Given the description of an element on the screen output the (x, y) to click on. 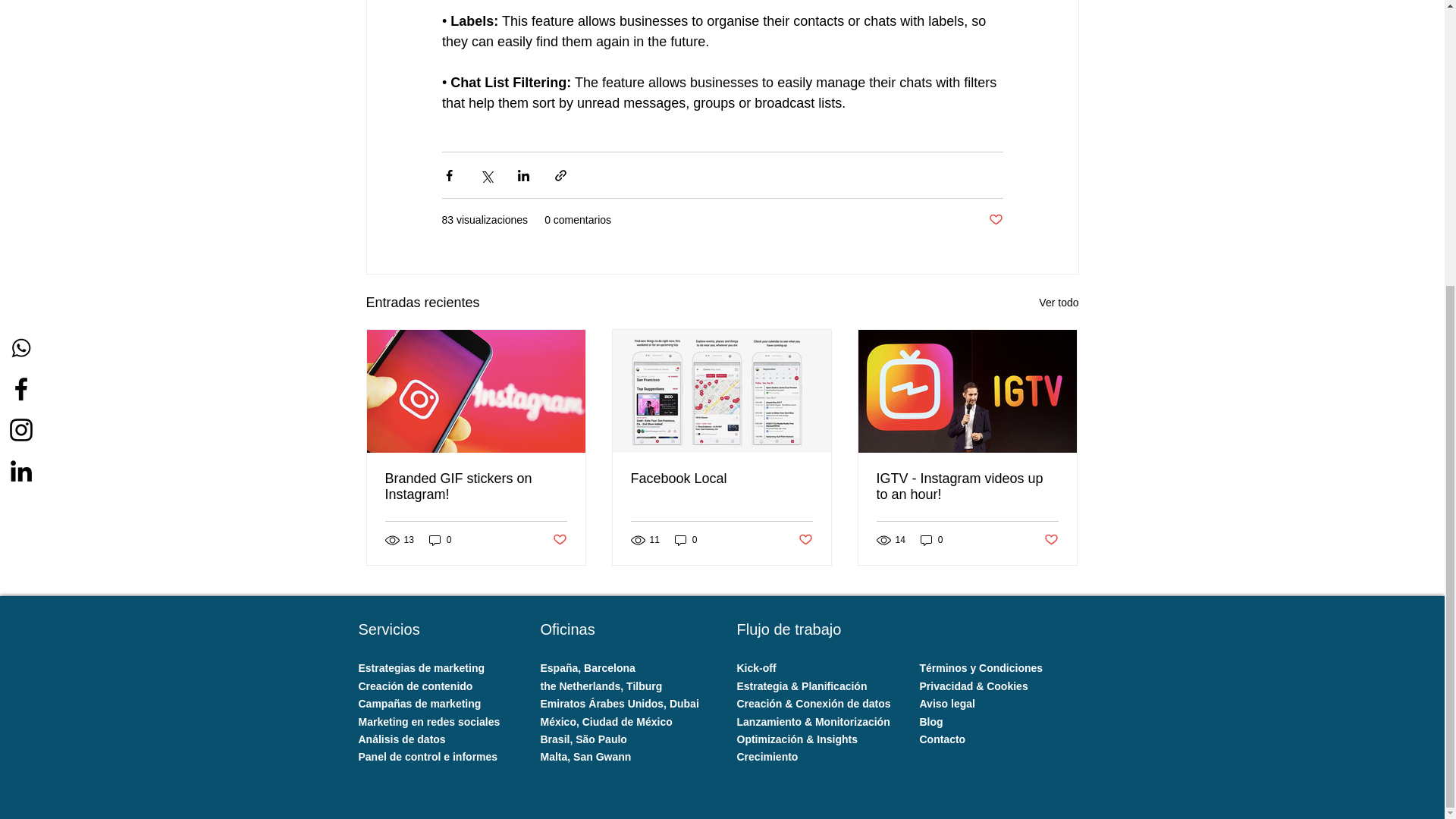
the Netherlands, Tilburg (601, 686)
Entrada no marcada como Me Gusta (995, 220)
Entrada no marcada como Me Gusta (1050, 539)
Entrada no marcada como Me Gusta (558, 539)
Aviso legal  (947, 703)
Branded GIF stickers on Instagram! (476, 486)
0 (685, 540)
IGTV - Instagram videos up to an hour! (967, 486)
0 (931, 540)
Ver todo (1058, 302)
